Given the description of an element on the screen output the (x, y) to click on. 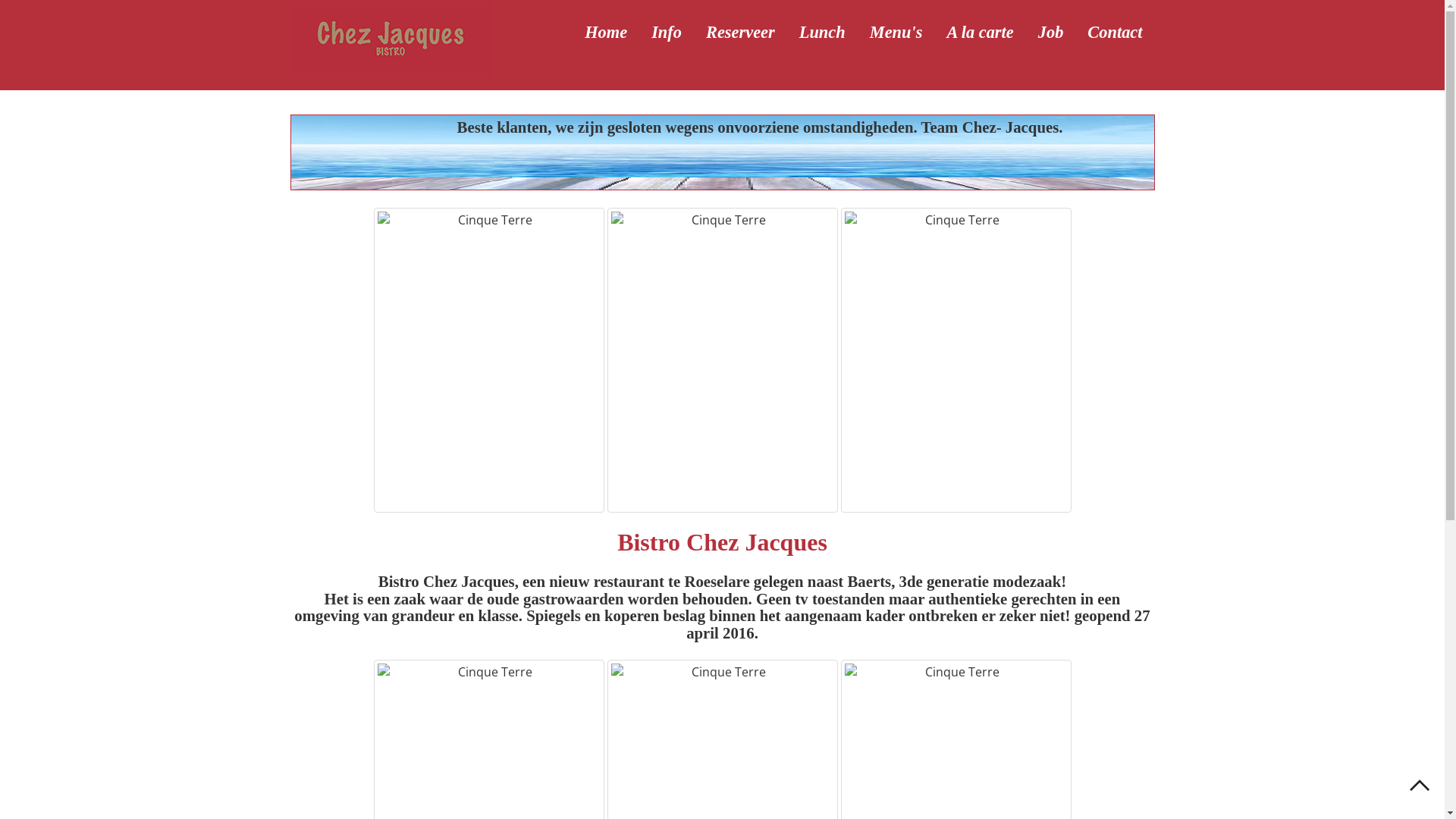
Menu's Element type: text (896, 32)
Info Element type: text (666, 32)
Reserveer Element type: text (740, 32)
Contact Element type: text (1114, 32)
A la carte Element type: text (979, 32)
Job Element type: text (1051, 32)
Lunch Element type: text (822, 32)
Home Element type: text (605, 32)
